Given the description of an element on the screen output the (x, y) to click on. 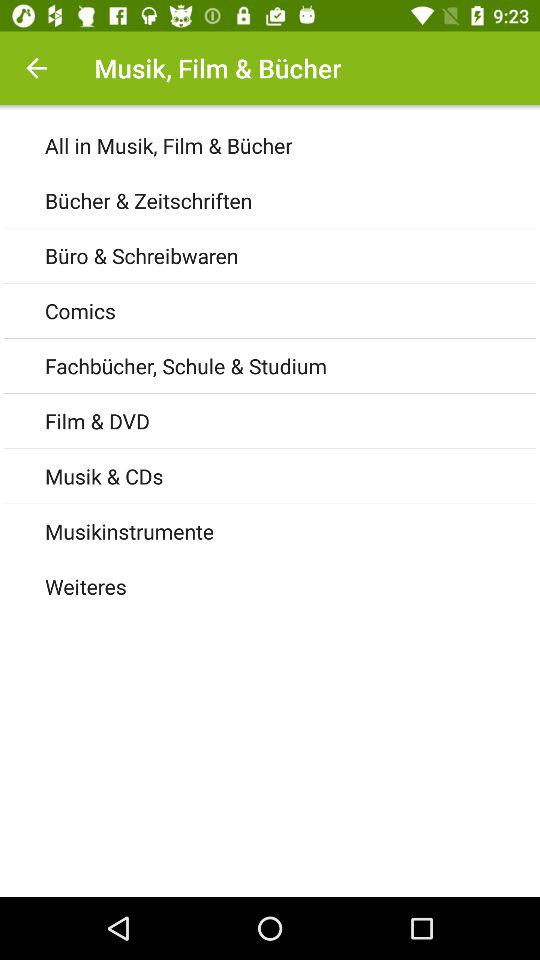
swipe until weiteres icon (292, 586)
